Given the description of an element on the screen output the (x, y) to click on. 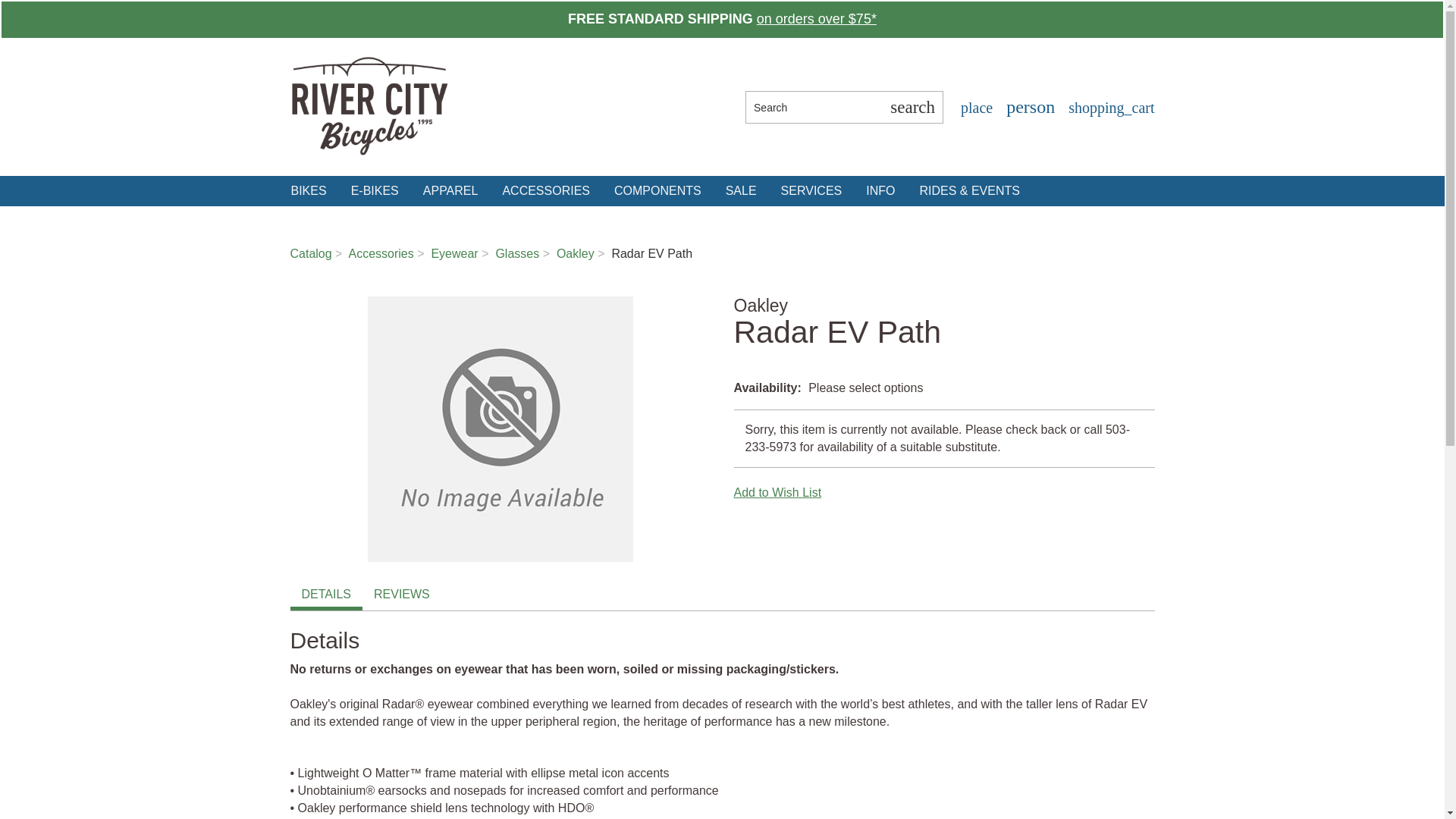
Account (1029, 107)
Search (911, 106)
Search (813, 106)
My Account (1029, 107)
Stores (975, 107)
Cart (1109, 107)
BIKES (308, 191)
River City Bicycles Home Page (368, 107)
Stores (975, 107)
Purchase Policies (816, 18)
